Given the description of an element on the screen output the (x, y) to click on. 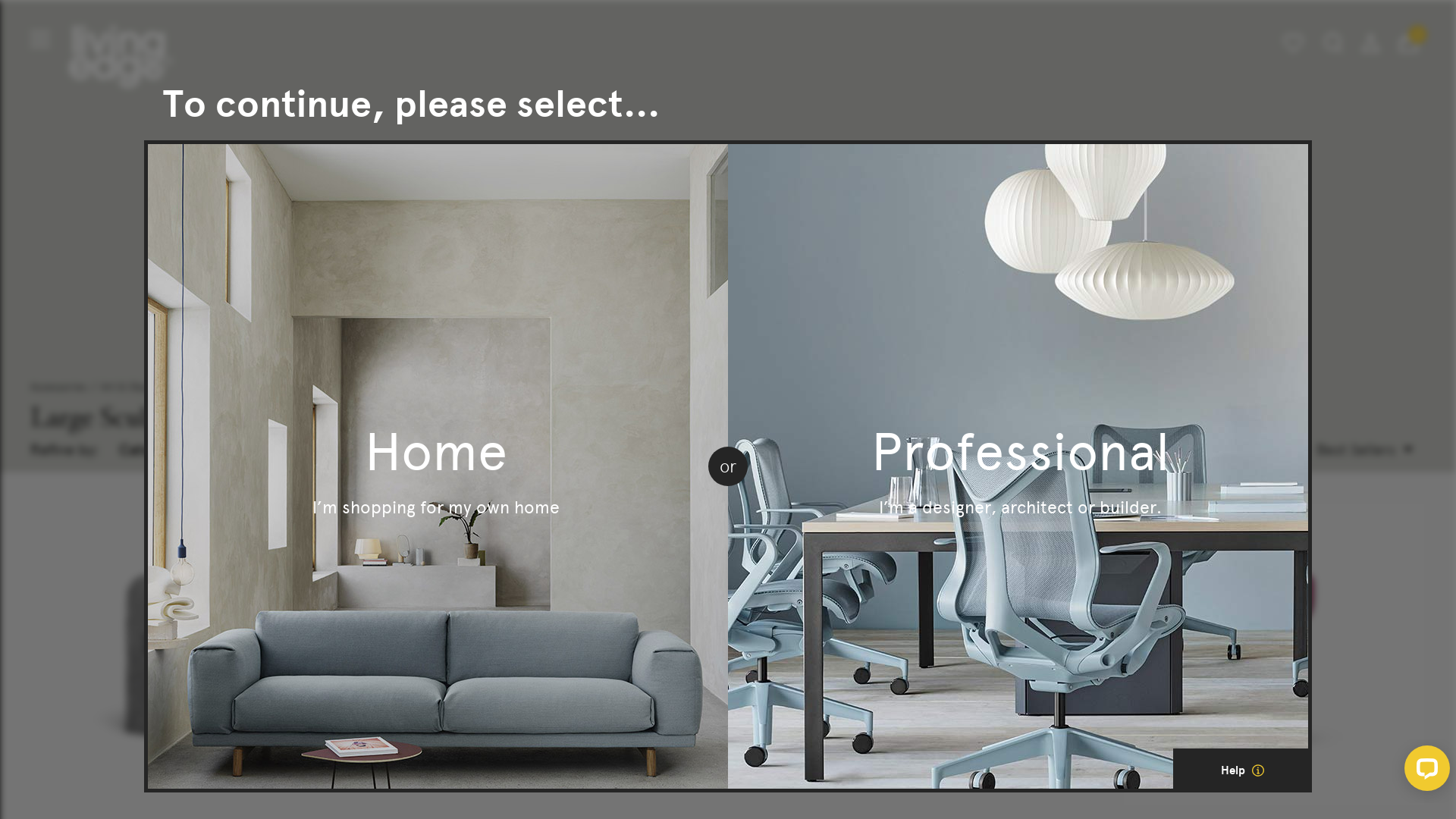
CLEAR ALL Element type: text (594, 451)
The End Element type: hover (181, 654)
Price Element type: text (477, 449)
0 Element type: text (1408, 42)
Category Element type: text (160, 449)
Art & Objects Element type: text (132, 386)
Living Edge Home Element type: hover (120, 56)
Menu Element type: text (40, 39)
Accessories Element type: text (58, 386)
Attica Element type: hover (909, 654)
Room Element type: text (274, 449)
Andy's Cactus Element type: hover (1273, 654)
Help Element type: text (1242, 769)
Pratone Forever Element type: hover (545, 654)
Brand Element type: text (377, 449)
